Given the description of an element on the screen output the (x, y) to click on. 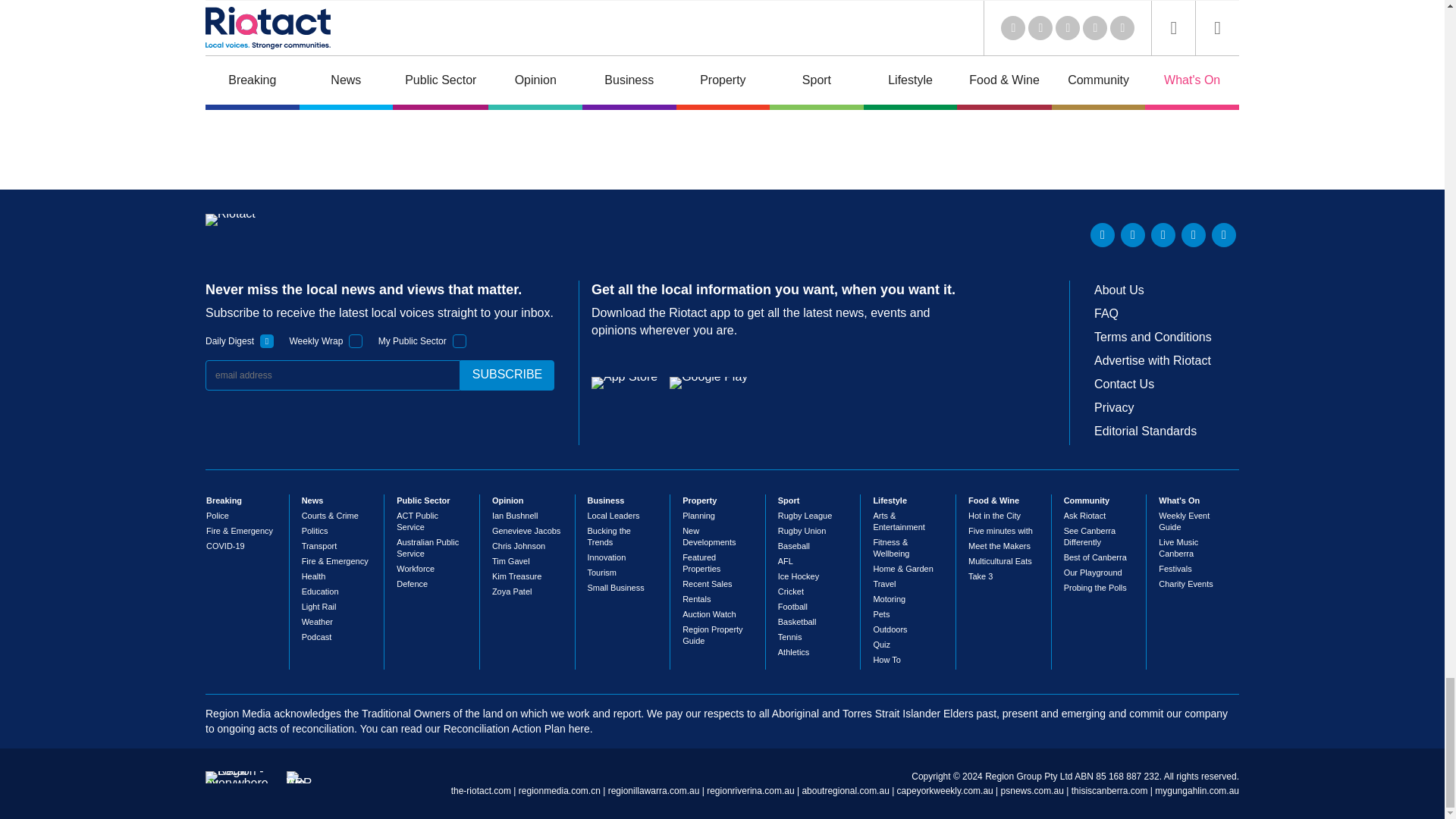
1 (266, 341)
subscribe (507, 375)
LinkedIn (1102, 234)
1 (355, 341)
1 (458, 341)
